Given the description of an element on the screen output the (x, y) to click on. 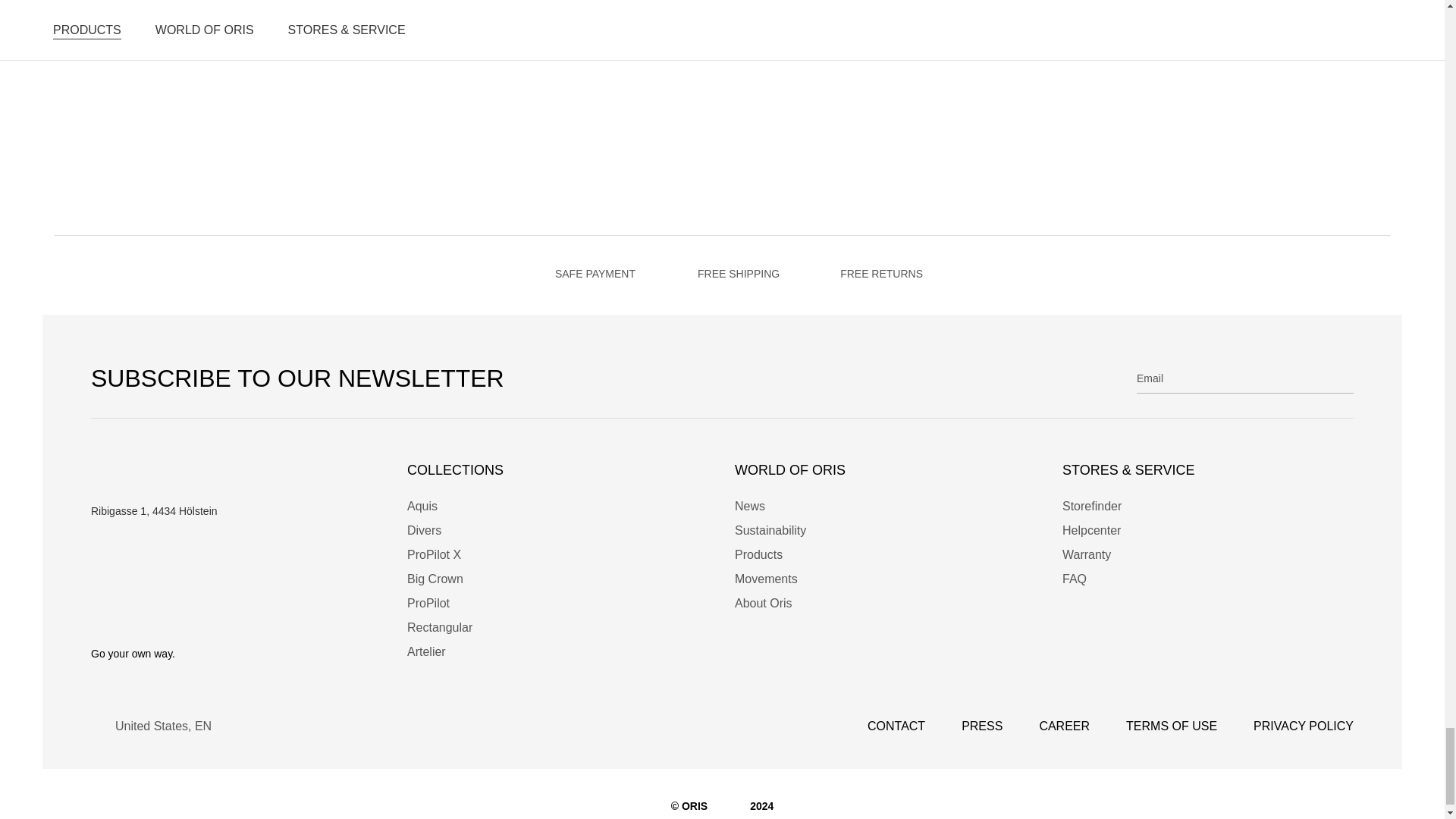
weibo (238, 613)
pinterest (203, 613)
Go to homepage (211, 473)
instagram (133, 613)
youku (273, 613)
COLLECTIONS (552, 470)
youtube (168, 613)
facebook (98, 613)
